Given the description of an element on the screen output the (x, y) to click on. 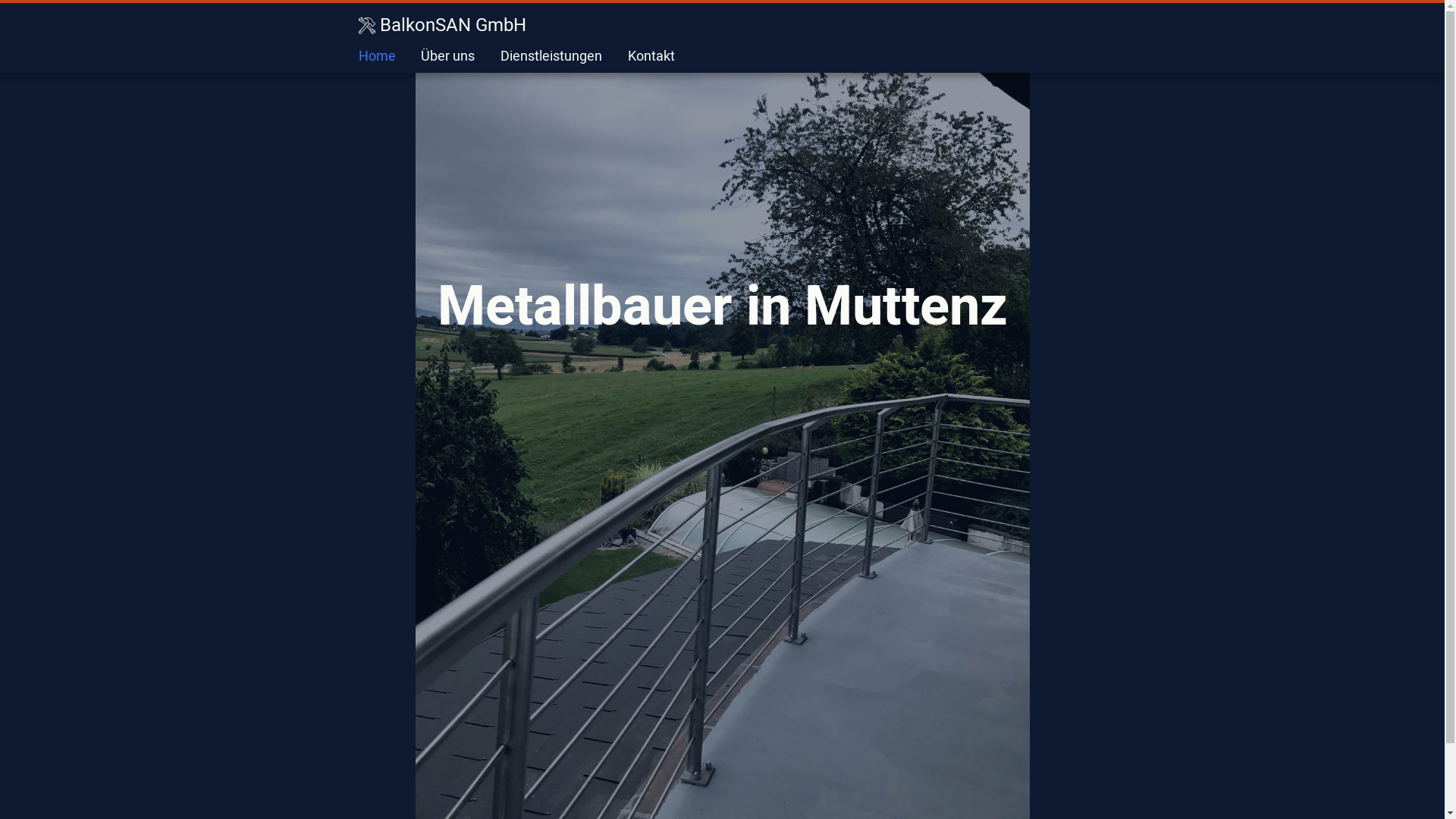
Dienstleistungen Element type: text (551, 56)
Home Element type: text (376, 56)
Kontakt Element type: text (650, 56)
